Given the description of an element on the screen output the (x, y) to click on. 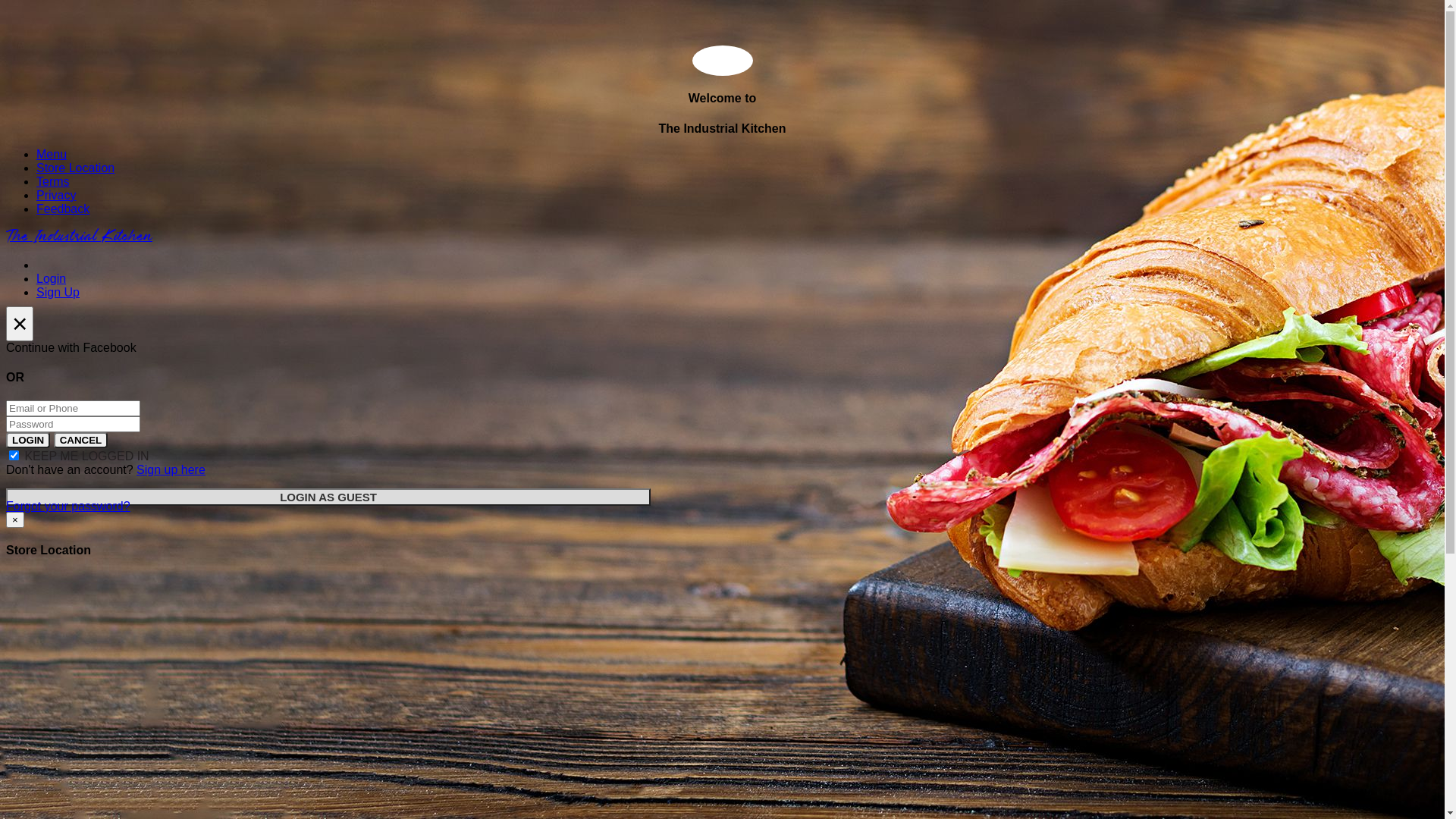
CANCEL Element type: text (80, 440)
Login Element type: text (50, 278)
The Industrial Kitchen Element type: text (79, 236)
Sign Up Element type: text (57, 291)
Continue with Facebook Element type: text (722, 347)
LOGIN AS GUEST Element type: text (328, 496)
LOGIN AS GUEST Element type: text (327, 496)
LOGIN Element type: text (28, 440)
Forgot your password? Element type: text (68, 505)
Menu Element type: text (51, 153)
Feedback Element type: text (62, 208)
Terms Element type: text (52, 181)
Privacy Element type: text (55, 194)
Sign up here Element type: text (170, 469)
Store Location Element type: text (75, 167)
